Given the description of an element on the screen output the (x, y) to click on. 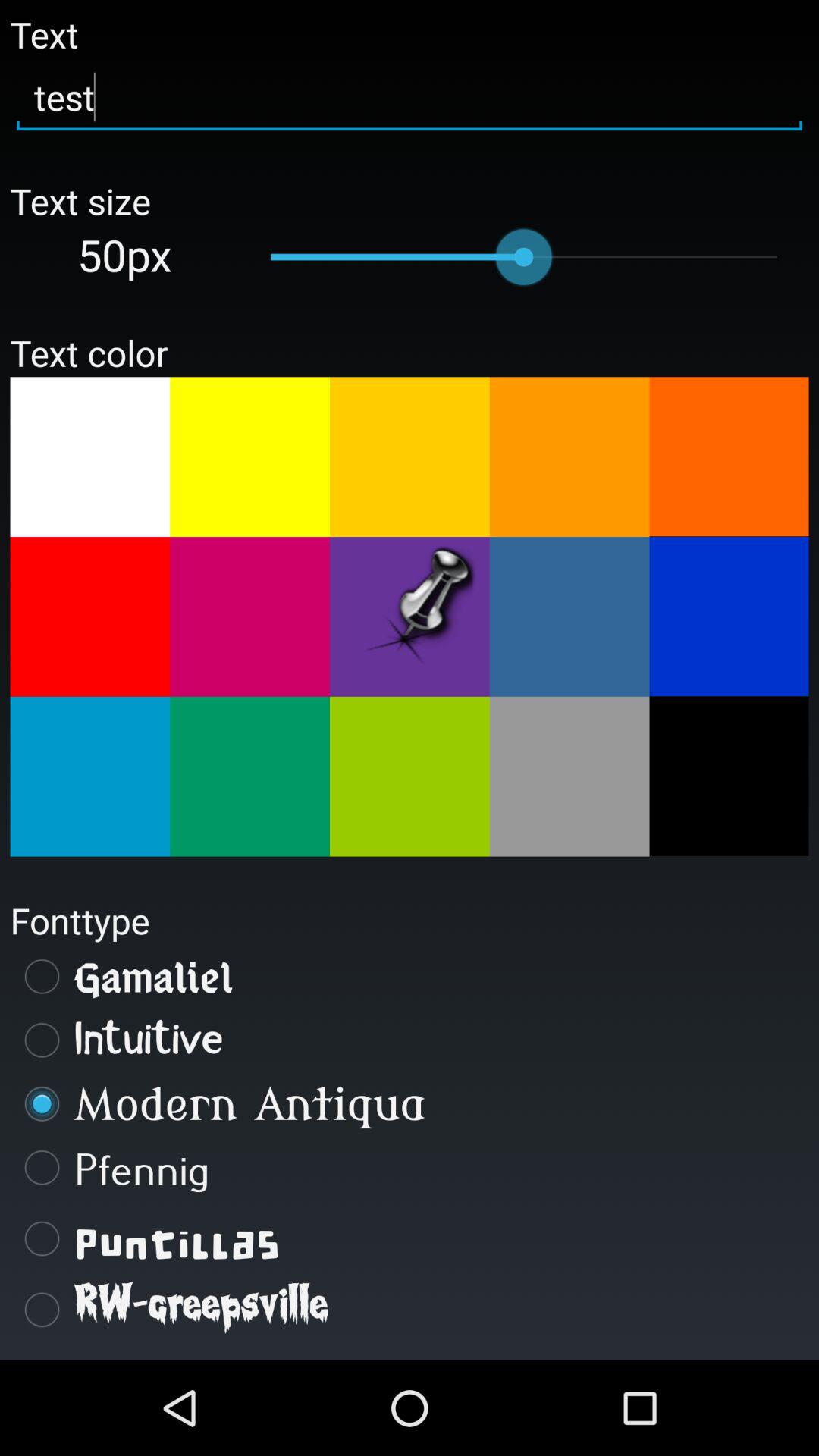
select yellow text color (249, 456)
